Given the description of an element on the screen output the (x, y) to click on. 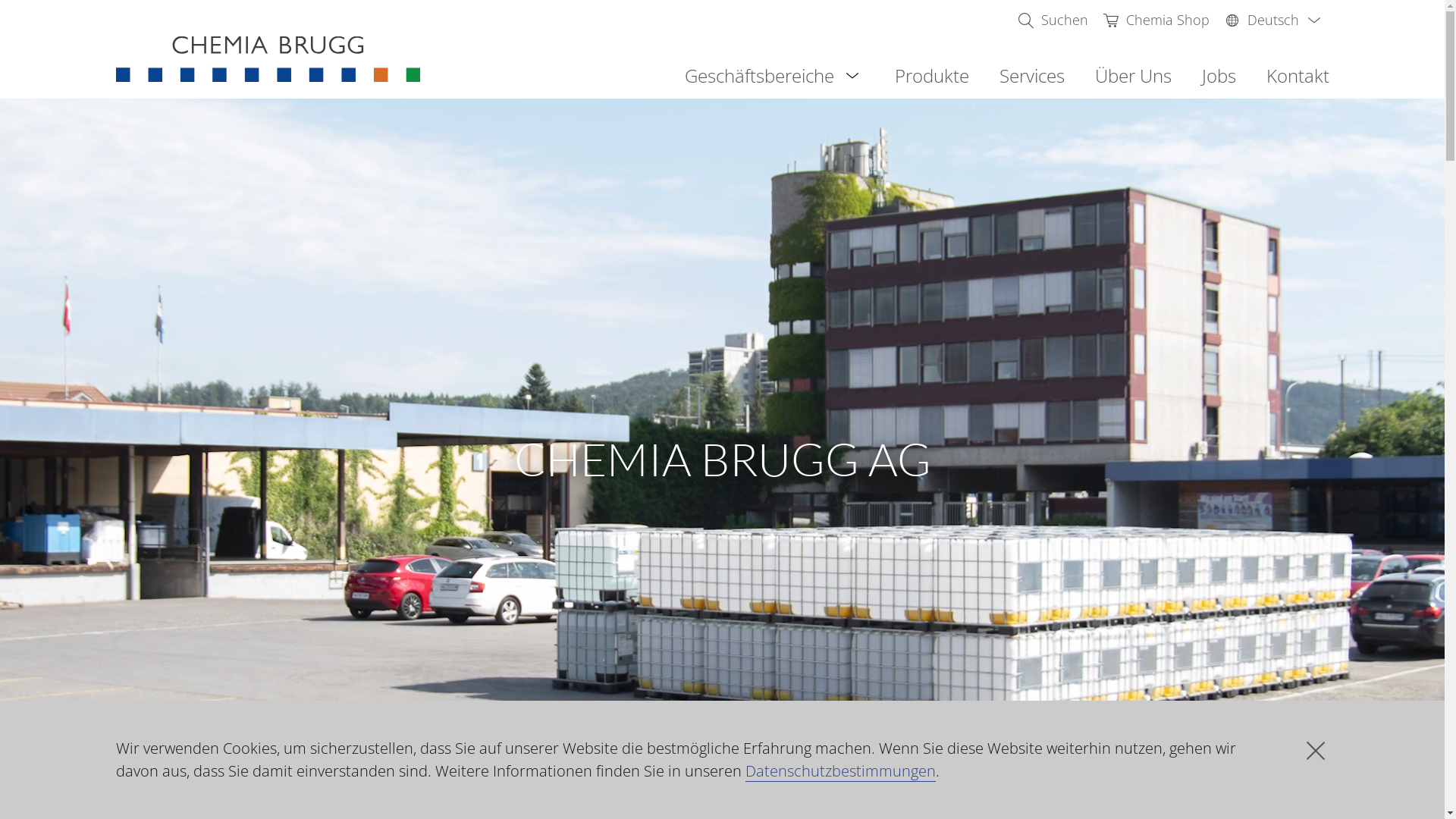
Chemia Shop Element type: text (1155, 20)
Services Element type: text (1031, 75)
Kontakt Element type: text (1297, 75)
Suchen Element type: text (1052, 20)
Datenschutzbestimmungen Element type: text (839, 770)
Deutsch Element type: text (1275, 20)
Cookie Banner schliessen Element type: text (1314, 751)
Logo ww-widmer-web Element type: text (267, 58)
Jobs Element type: text (1218, 75)
Produkte Element type: text (931, 75)
